Given the description of an element on the screen output the (x, y) to click on. 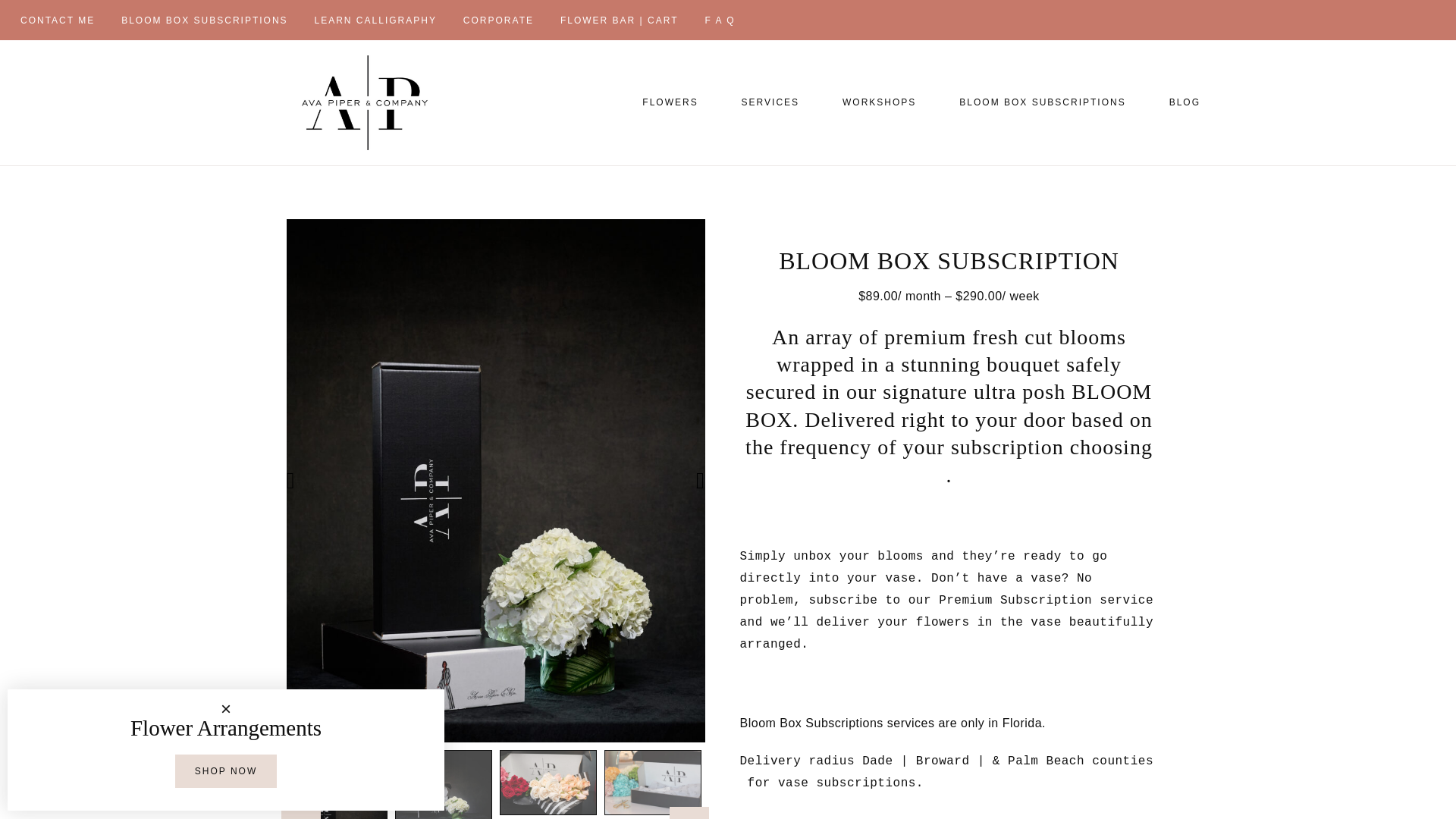
WORKSHOPS (879, 102)
SERVICES (770, 102)
F A Q (719, 19)
CORPORATE (497, 19)
BLOOM BOX SUBSCRIPTIONS (1041, 102)
BLOG (1177, 102)
CONTACT ME (57, 19)
BLOOM BOX SUBSCRIPTIONS (204, 19)
LEARN CALLIGRAPHY (375, 19)
FLOWERS (670, 102)
